Given the description of an element on the screen output the (x, y) to click on. 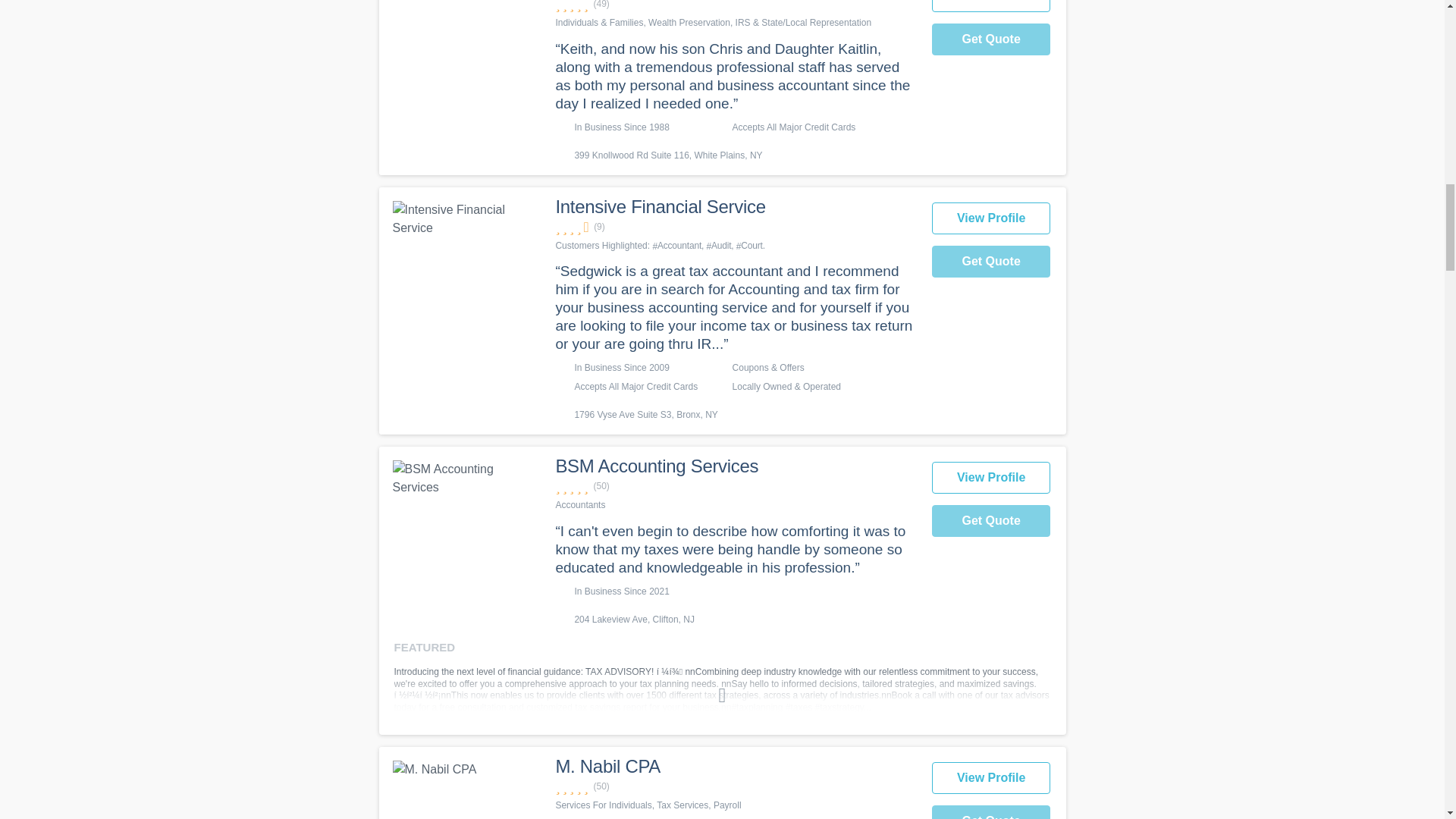
4.1 (734, 227)
4.9 (734, 5)
4.9 (734, 486)
5.0 (734, 786)
